Given the description of an element on the screen output the (x, y) to click on. 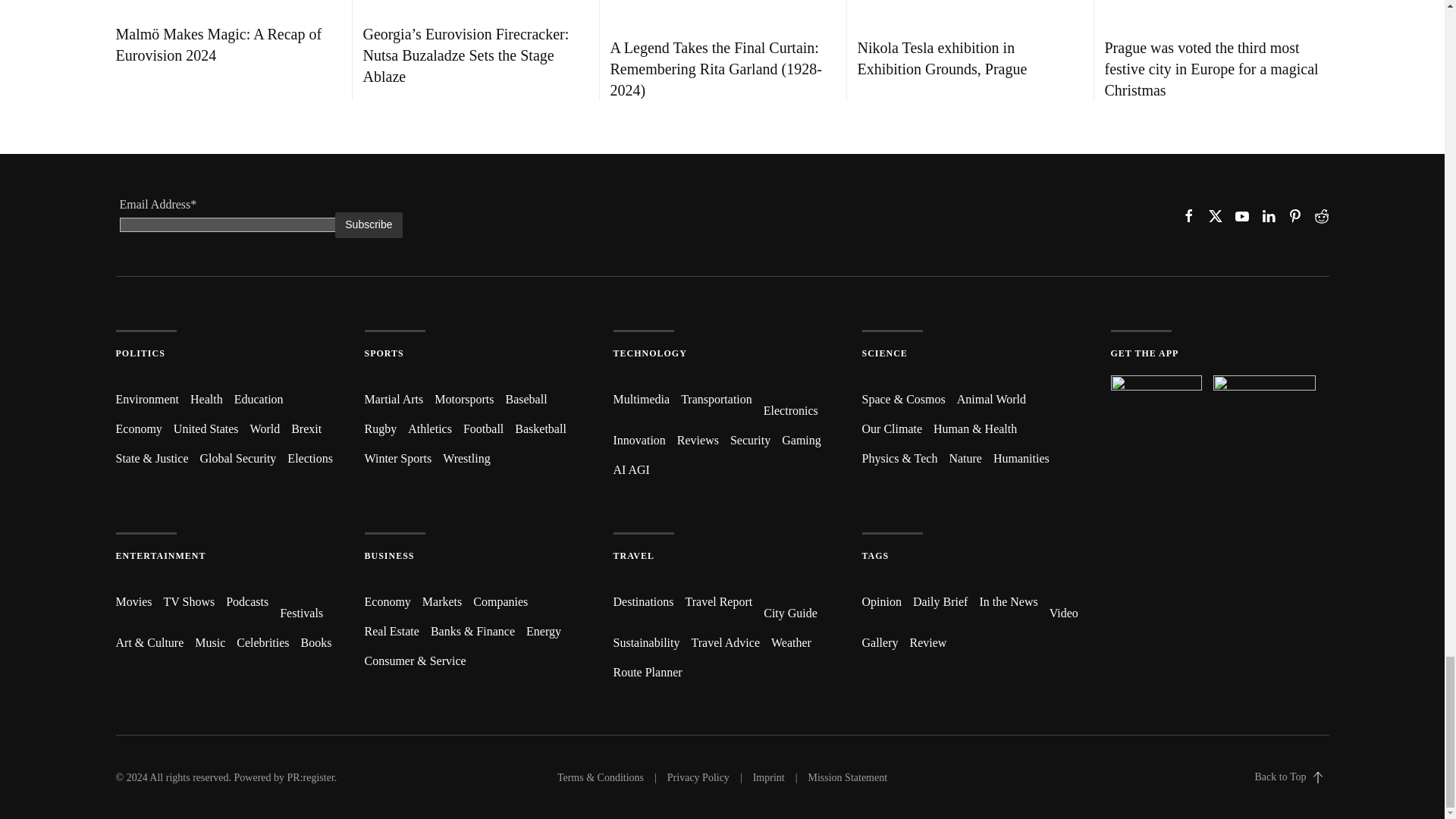
Subscribe (367, 225)
